Given the description of an element on the screen output the (x, y) to click on. 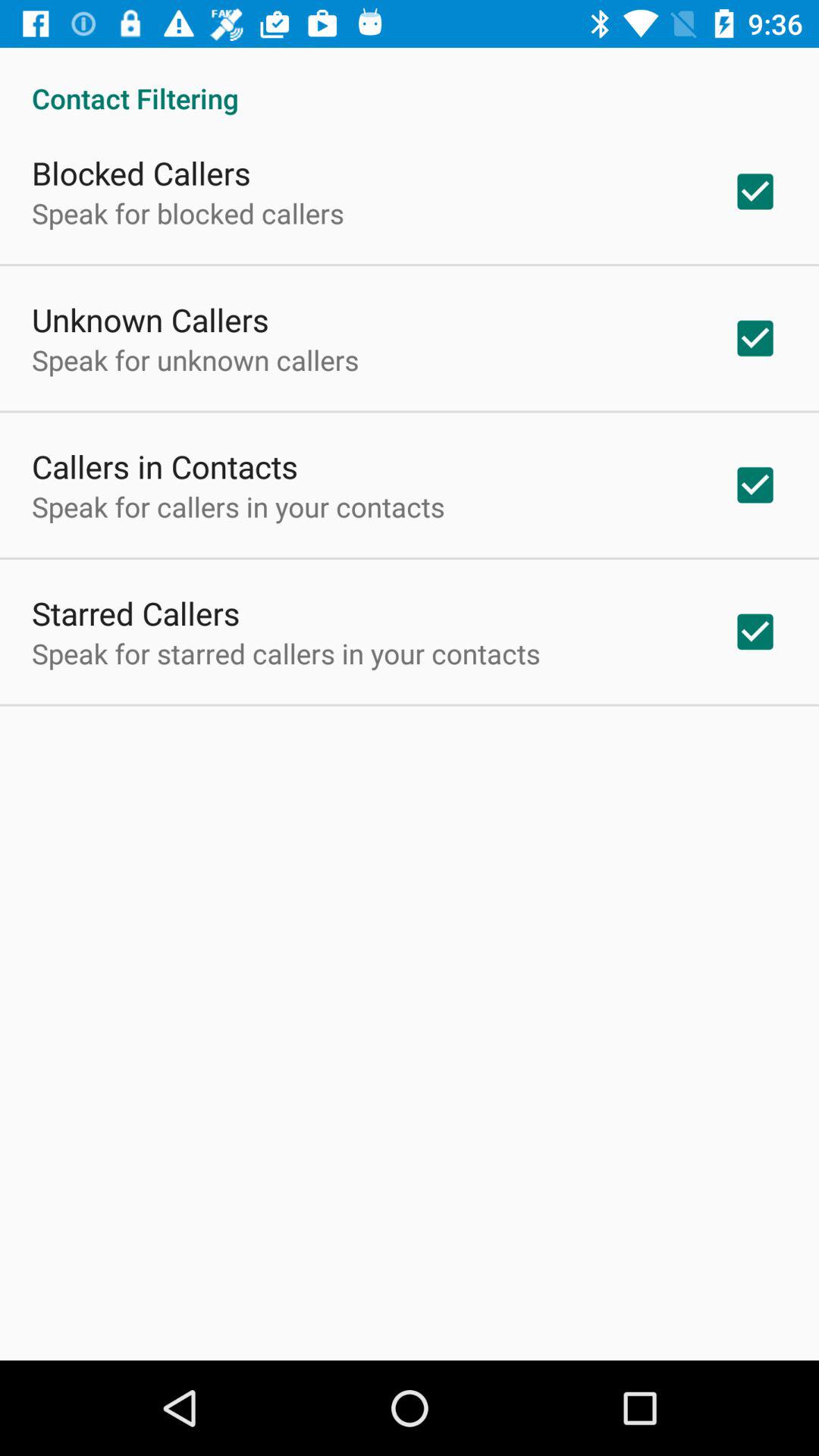
choose icon above blocked callers (409, 82)
